Given the description of an element on the screen output the (x, y) to click on. 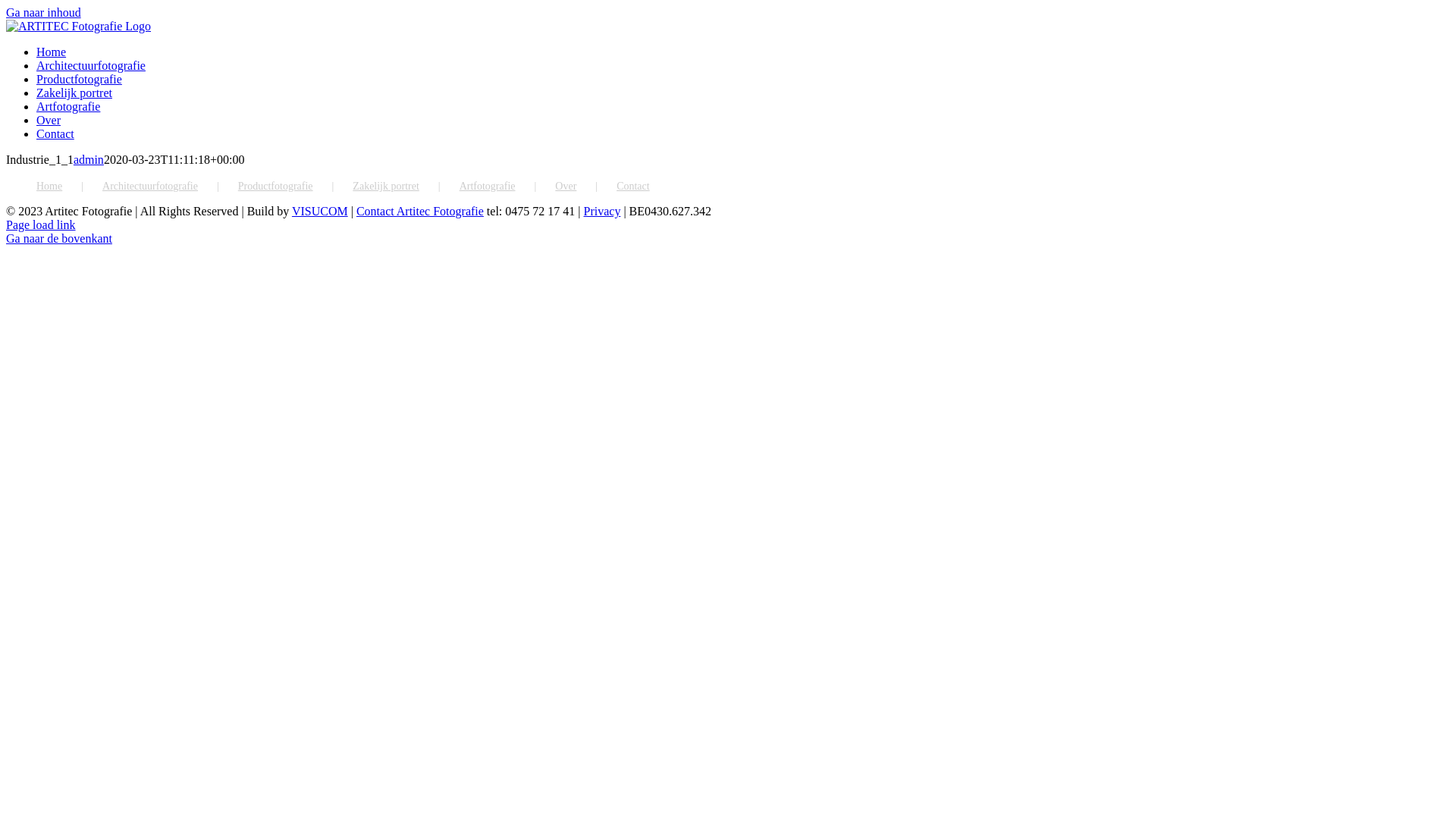
Ga naar inhoud Element type: text (43, 12)
Architectuurfotografie Element type: text (90, 65)
Page load link Element type: text (40, 224)
Productfotografie Element type: text (295, 186)
Contact Artitec Fotografie Element type: text (419, 210)
Ga naar de bovenkant Element type: text (59, 238)
Over Element type: text (48, 119)
Artfotografie Element type: text (507, 186)
VISUCOM Element type: text (319, 210)
Home Element type: text (50, 51)
Contact Element type: text (632, 186)
Contact Element type: text (55, 133)
admin Element type: text (88, 159)
Zakelijk portret Element type: text (74, 92)
Artfotografie Element type: text (68, 106)
Over Element type: text (585, 186)
Privacy Element type: text (602, 210)
Productfotografie Element type: text (79, 78)
Architectuurfotografie Element type: text (170, 186)
Home Element type: text (69, 186)
Zakelijk portret Element type: text (405, 186)
